Given the description of an element on the screen output the (x, y) to click on. 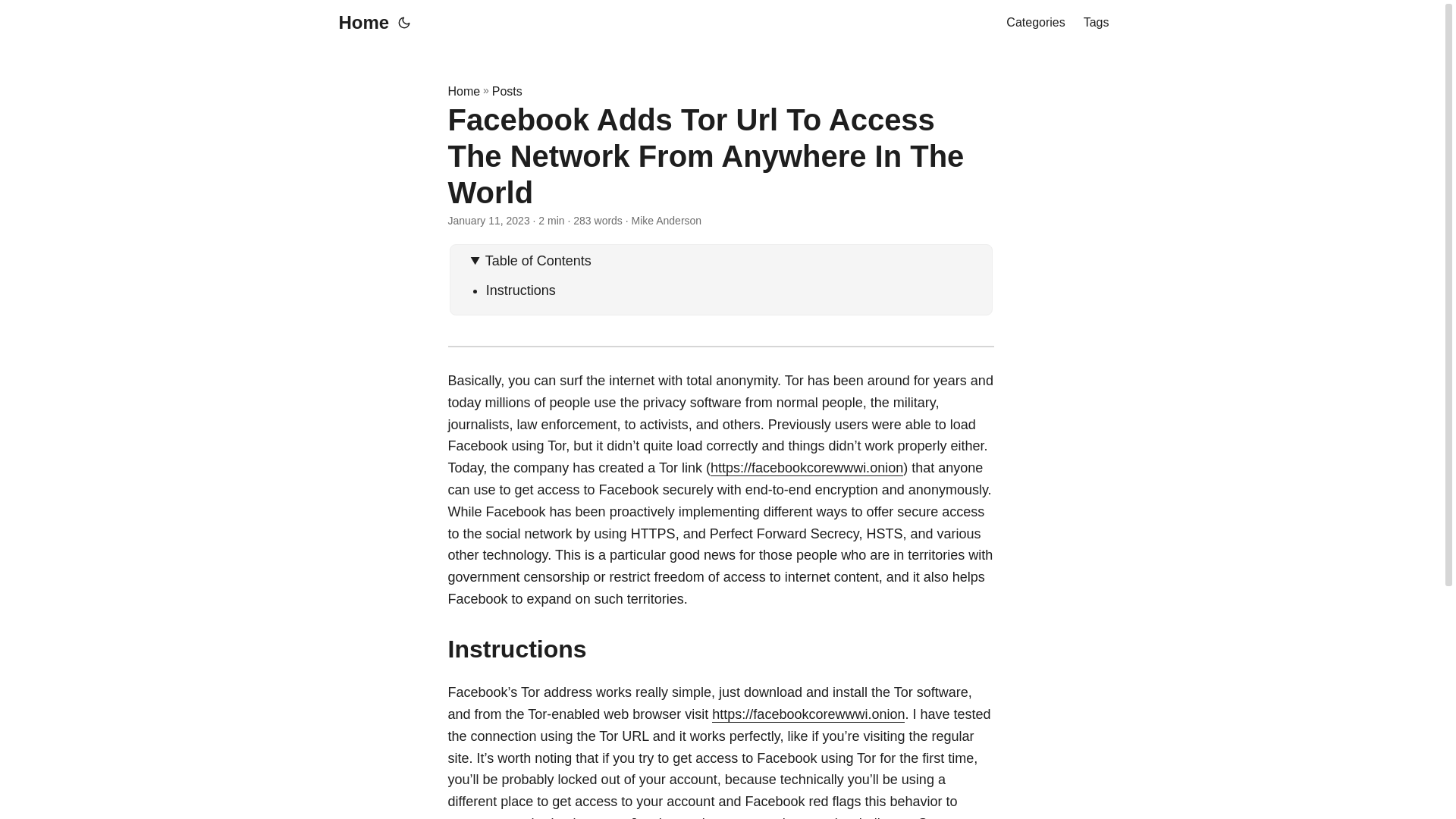
Categories (1035, 22)
Instructions (521, 290)
Home (463, 91)
Categories (1035, 22)
Posts (507, 91)
Home (359, 22)
